Given the description of an element on the screen output the (x, y) to click on. 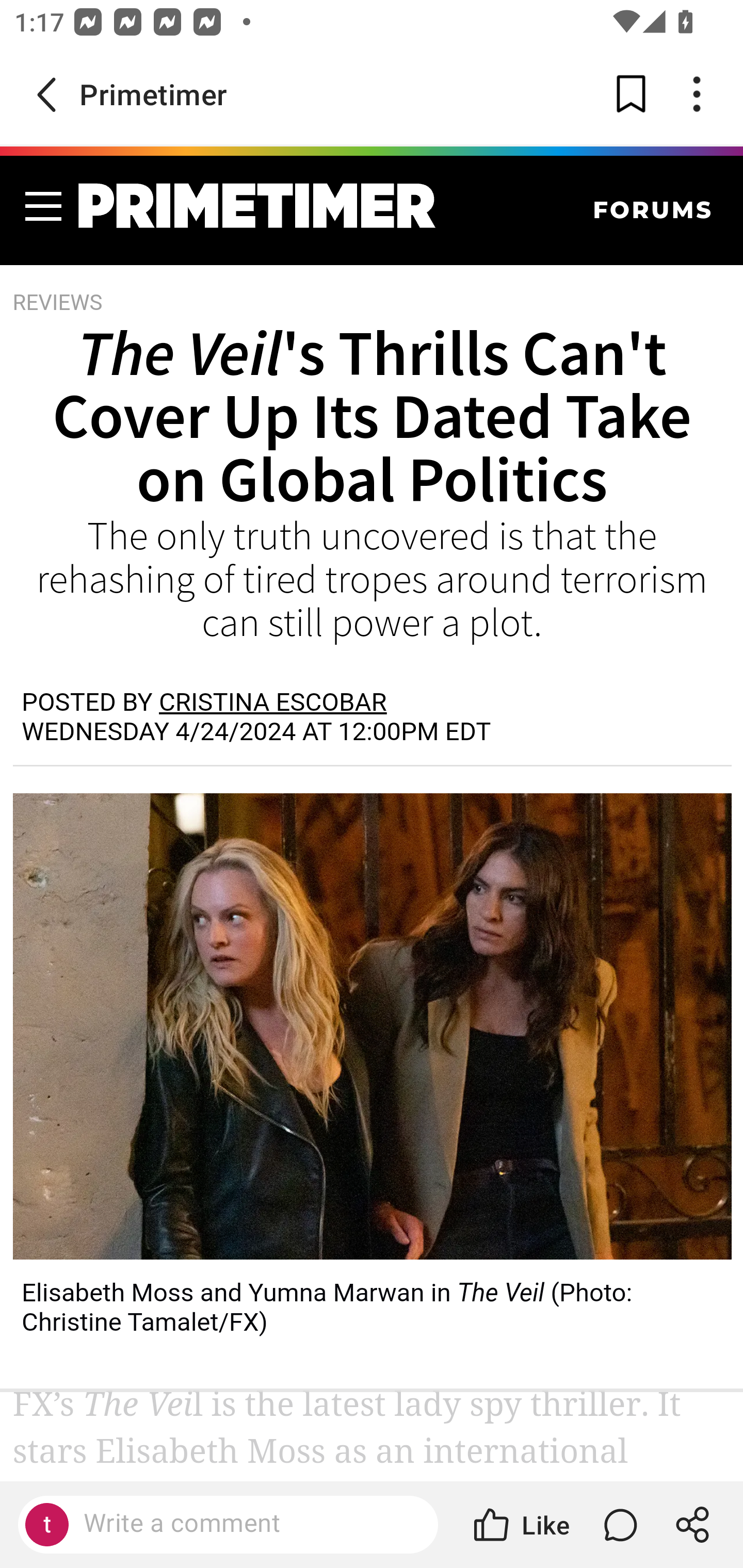
PRIMETIMER (256, 204)
FORUMS (653, 209)
CRISTINA ESCOBAR (271, 702)
Like (519, 1524)
Write a comment (227, 1524)
Write a comment (245, 1523)
